Given the description of an element on the screen output the (x, y) to click on. 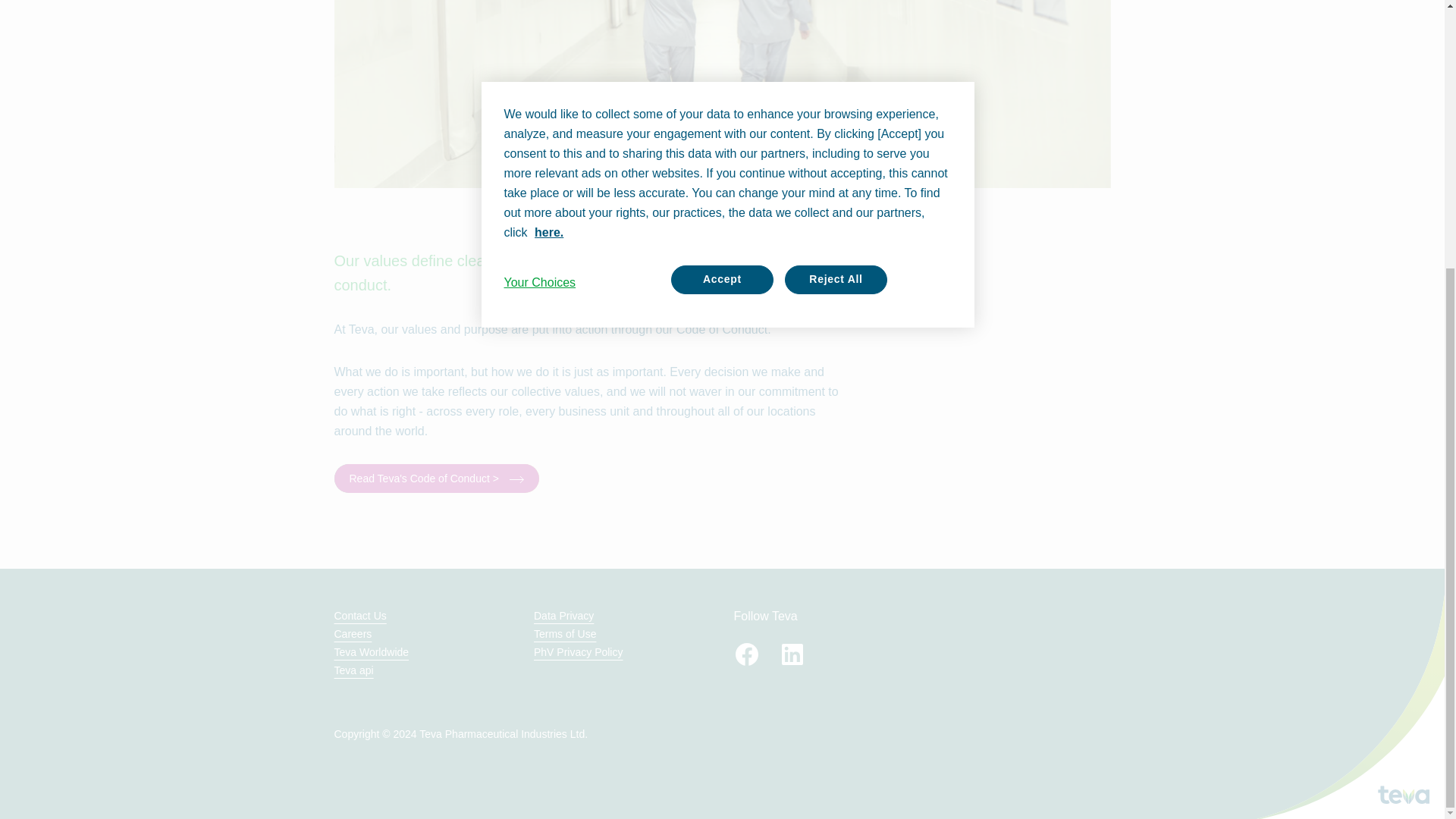
Contact Us (359, 615)
Careers (352, 633)
Terms of Use (564, 633)
Data Privacy (564, 615)
Contact Us (359, 615)
Read Teva's Code of Conduct in PDF format (435, 478)
Careers (352, 633)
Data Privacy (564, 615)
Teva Worldwide (371, 652)
 PhV Privacy Policy (578, 652)
